Given the description of an element on the screen output the (x, y) to click on. 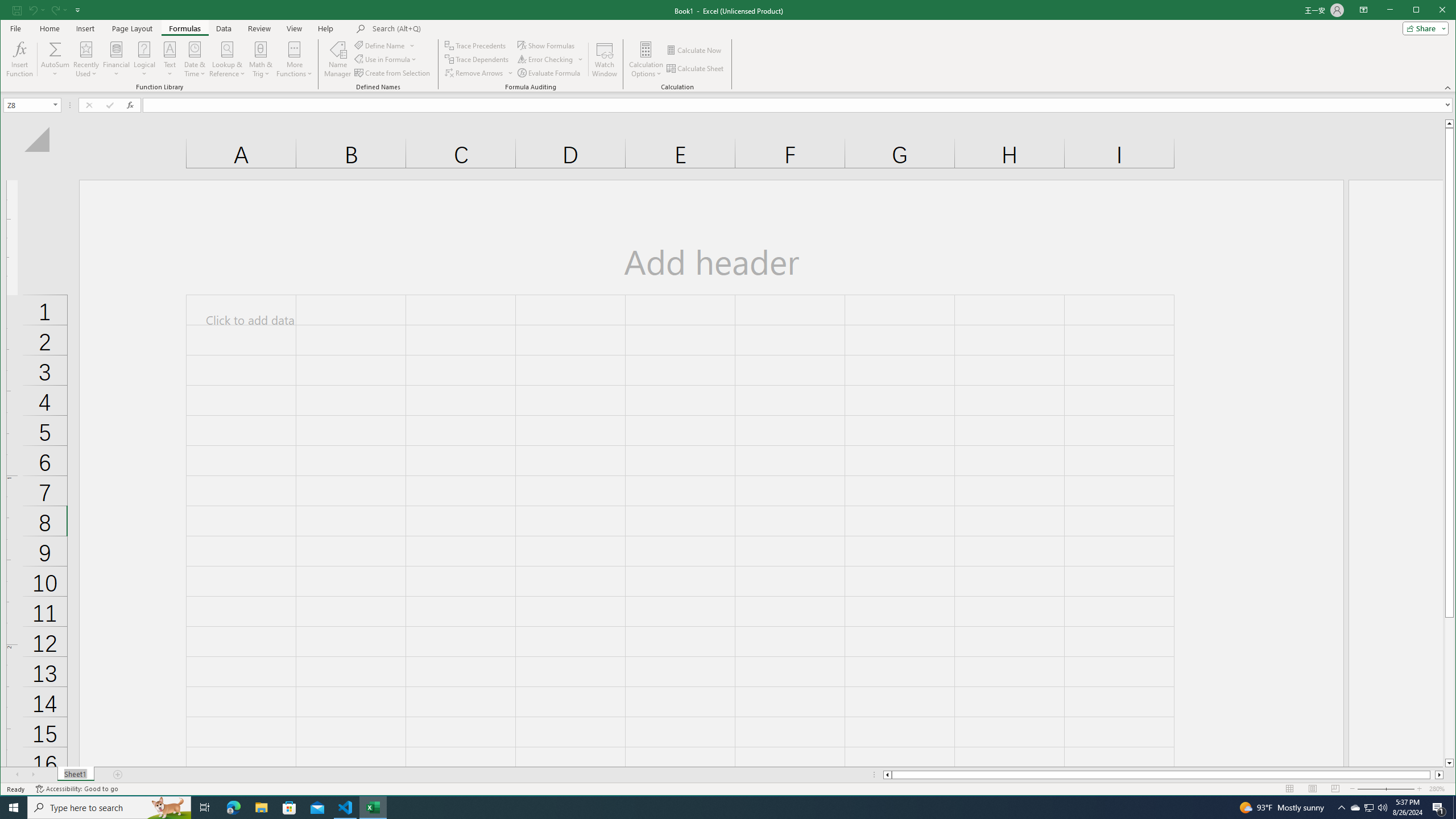
Financial (116, 59)
Show desktop (1454, 807)
Calculation Options (646, 59)
Remove Arrows (474, 72)
Show Formulas (546, 45)
